Given the description of an element on the screen output the (x, y) to click on. 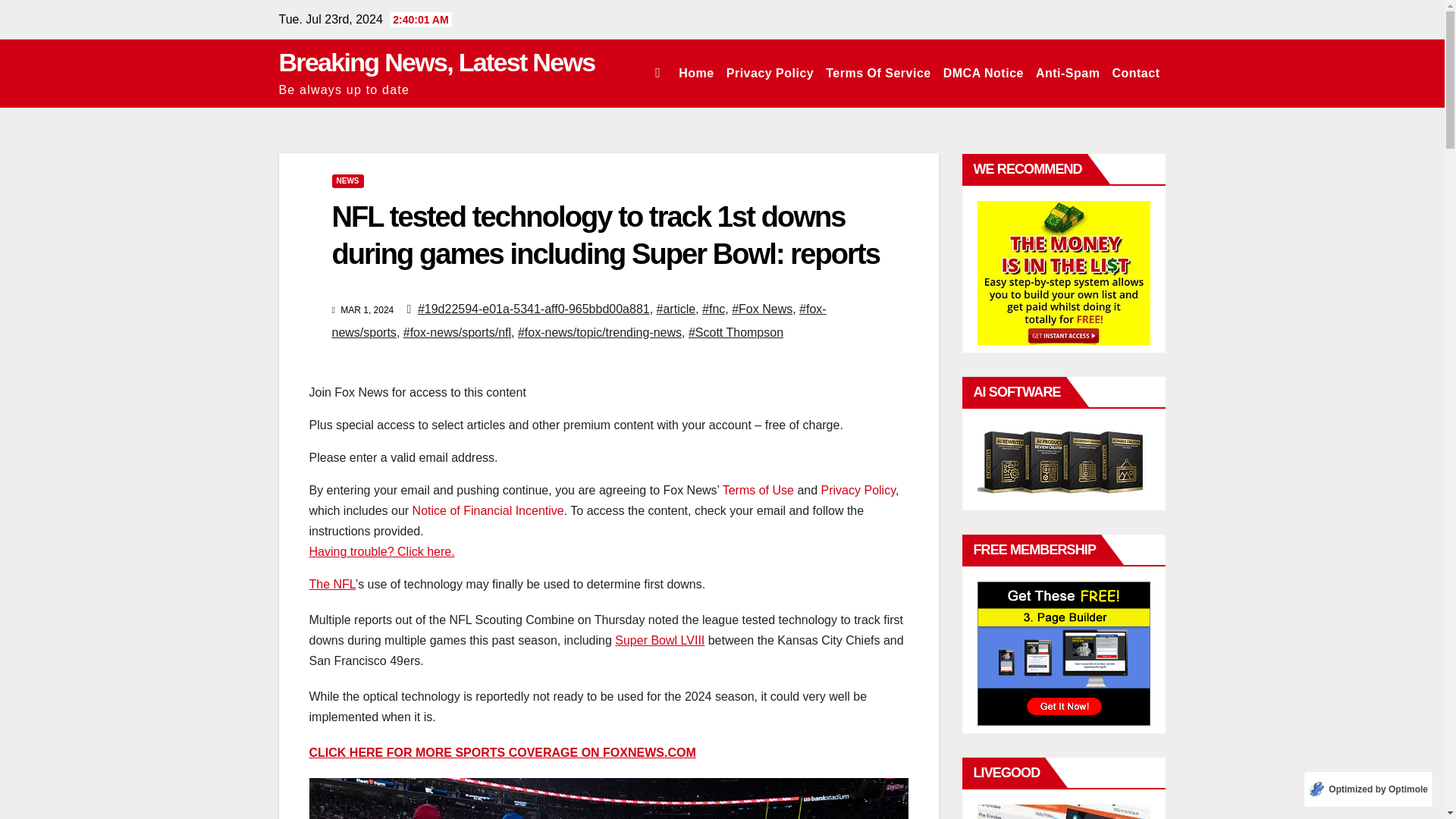
Notice of Financial Incentive (488, 510)
Having trouble? Click here. (381, 551)
DMCA Notice (983, 73)
Terms of Use (757, 490)
DMCA Notice (983, 73)
Terms of Service (877, 73)
Privacy Policy (858, 490)
Terms Of Service (877, 73)
NEWS (347, 181)
Super Bowl LVIII (659, 640)
Anti-Spam (1067, 73)
CLICK HERE FOR MORE SPORTS COVERAGE ON FOXNEWS.COM (501, 752)
Privacy Policy (770, 73)
